Given the description of an element on the screen output the (x, y) to click on. 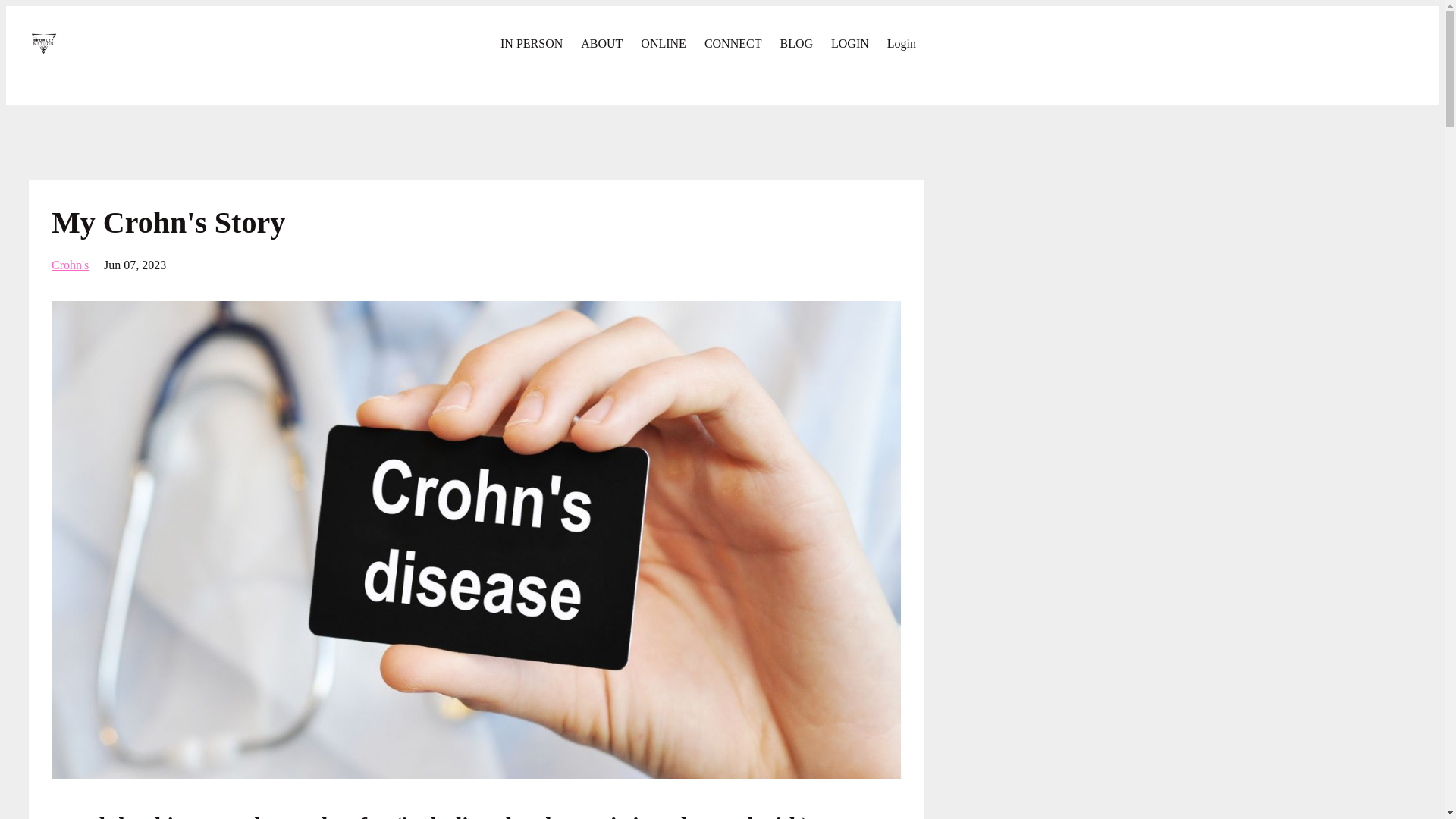
ONLINE (662, 43)
ABOUT (601, 43)
IN PERSON (531, 43)
LOGIN (850, 43)
Login (900, 43)
Crohn'S (69, 264)
BLOG (795, 43)
CONNECT (732, 43)
